Given the description of an element on the screen output the (x, y) to click on. 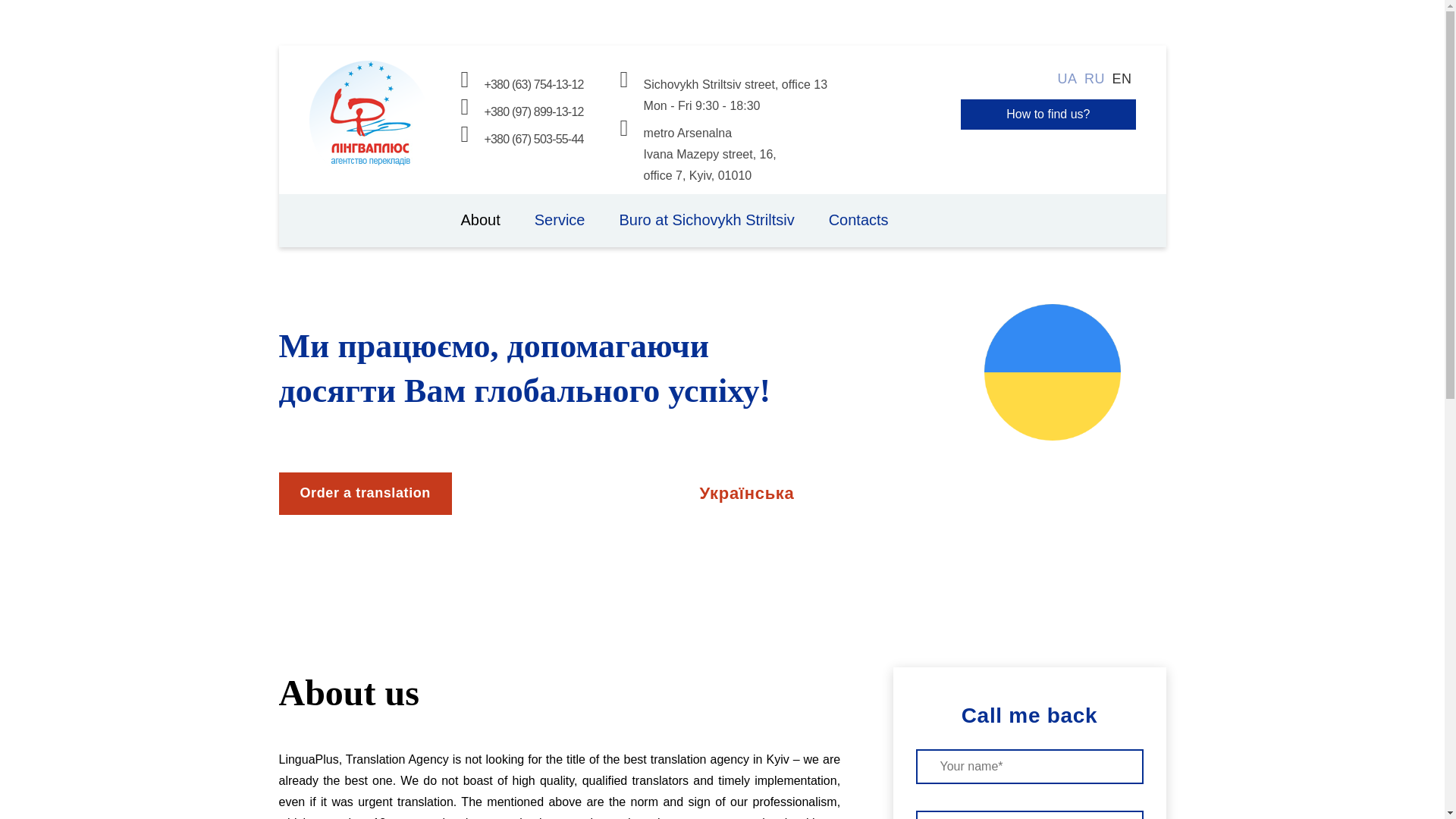
UA (1067, 78)
RU (1094, 78)
Buro at Sichovykh Striltsiv (705, 219)
Service (559, 219)
About (480, 219)
Order a translation (365, 493)
How to find us? (1047, 114)
EN (1121, 78)
Contacts (858, 219)
